Given the description of an element on the screen output the (x, y) to click on. 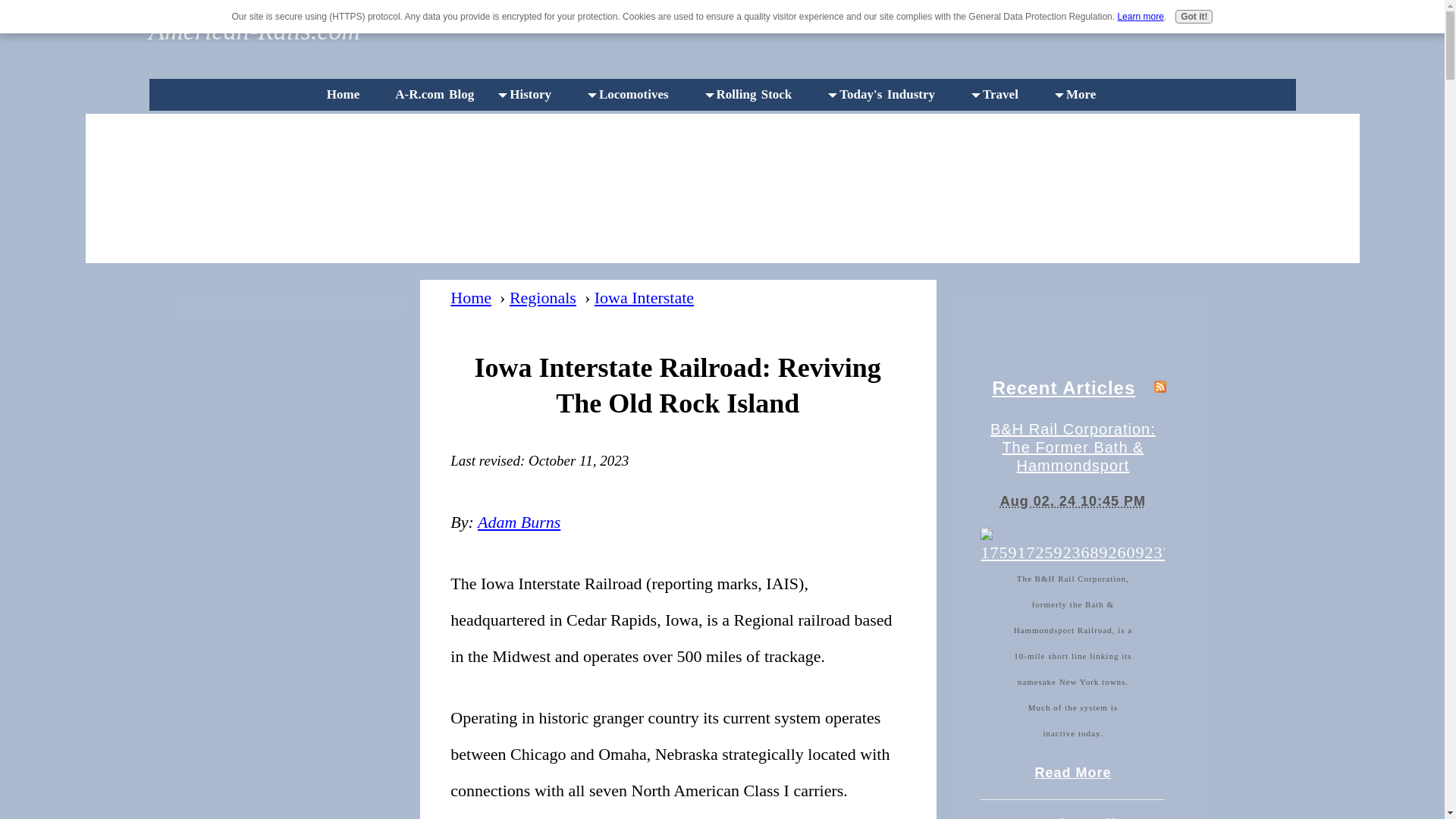
A-R.com Blog (438, 94)
American-Rails.com (253, 30)
2024-08-02T22:45:08-0400 (1072, 500)
Home (347, 94)
